Given the description of an element on the screen output the (x, y) to click on. 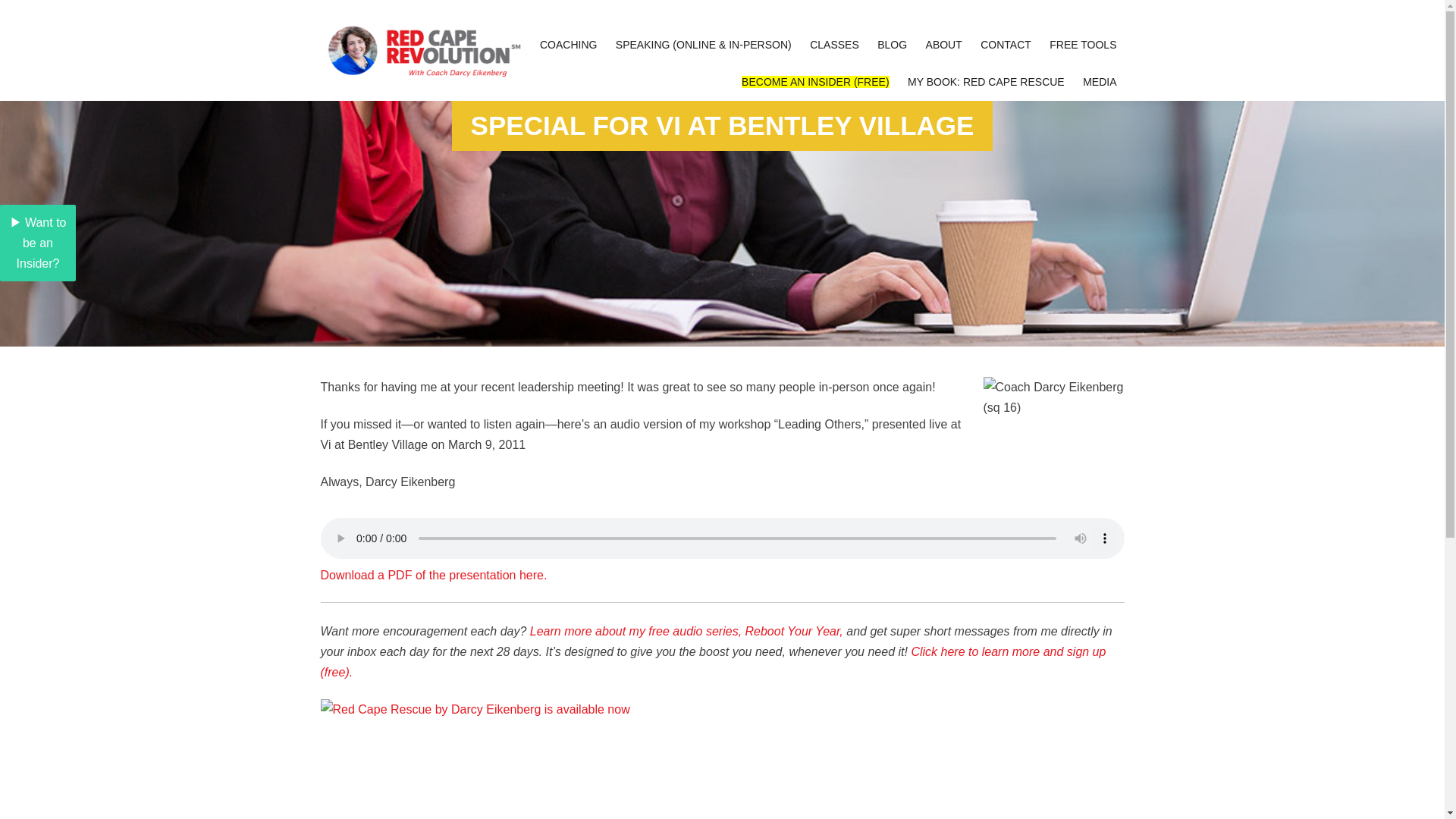
Learn more about my free audio series, Reboot Your Year, (686, 631)
About (943, 44)
Red Cape Rescue by Darcy Eikenberg is available now (722, 759)
BLOG (891, 44)
CLASSES (834, 44)
COACHING (568, 44)
MY BOOK: RED CAPE RESCUE (985, 81)
Blog (891, 44)
My Book: Red Cape Rescue (985, 81)
Coaching (568, 44)
MEDIA (1099, 81)
FREE TOOLS (1083, 44)
Media (1099, 81)
CONTACT (1005, 44)
Classes (834, 44)
